Given the description of an element on the screen output the (x, y) to click on. 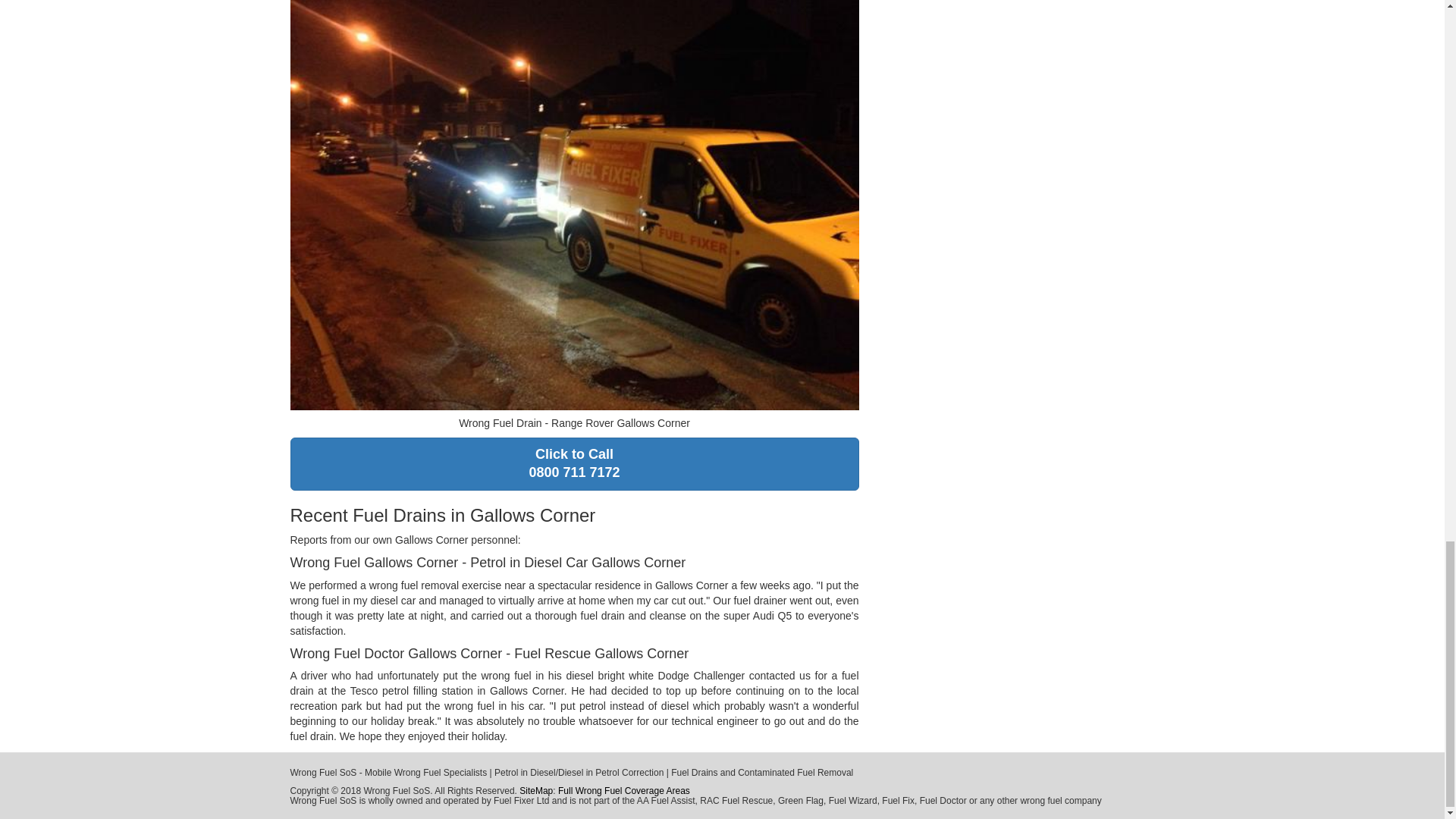
SiteMap (574, 463)
Full Wrong Fuel Coverage Areas (536, 790)
